Given the description of an element on the screen output the (x, y) to click on. 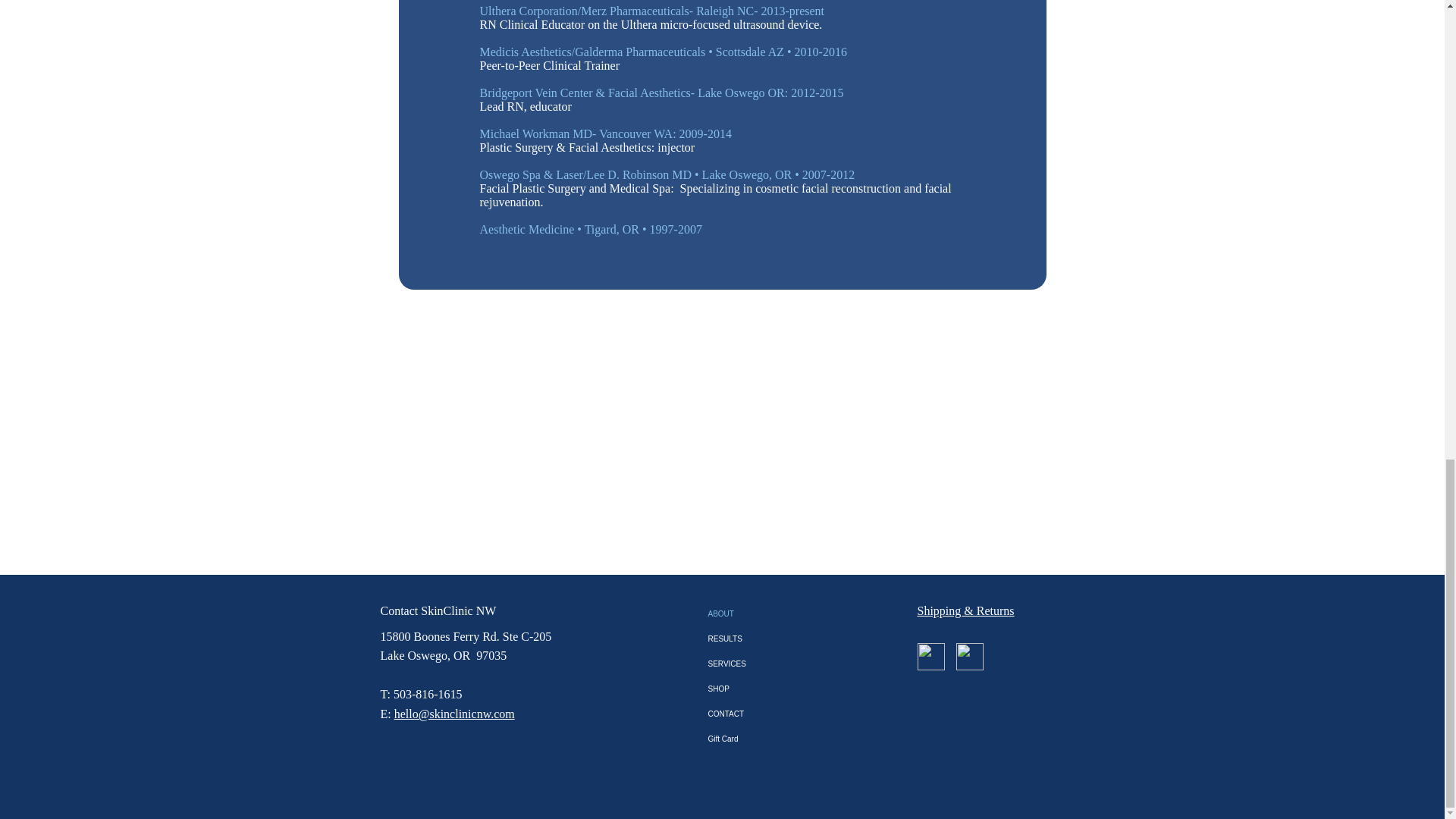
Gift Card (740, 738)
SERVICES (740, 663)
CONTACT (740, 713)
SHOP (740, 688)
ABOUT (740, 613)
RESULTS (740, 638)
